Given the description of an element on the screen output the (x, y) to click on. 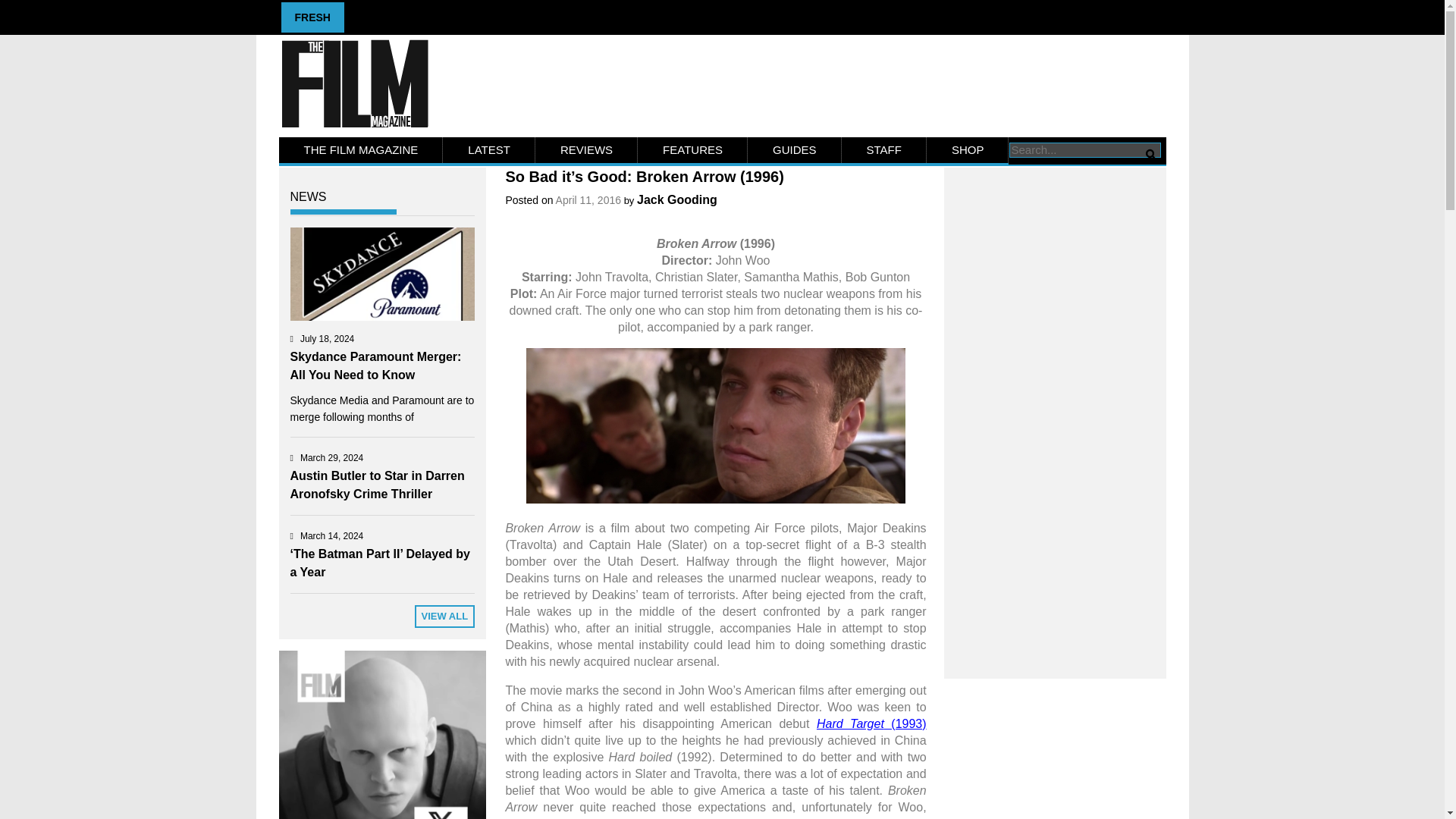
SHOP (967, 149)
STAFF (883, 149)
LATEST (488, 149)
THE FILM MAGAZINE (361, 149)
Jack Gooding (677, 199)
REVIEWS (586, 149)
GUIDES (794, 149)
FEATURES (692, 149)
April 11, 2016 (588, 200)
